Given the description of an element on the screen output the (x, y) to click on. 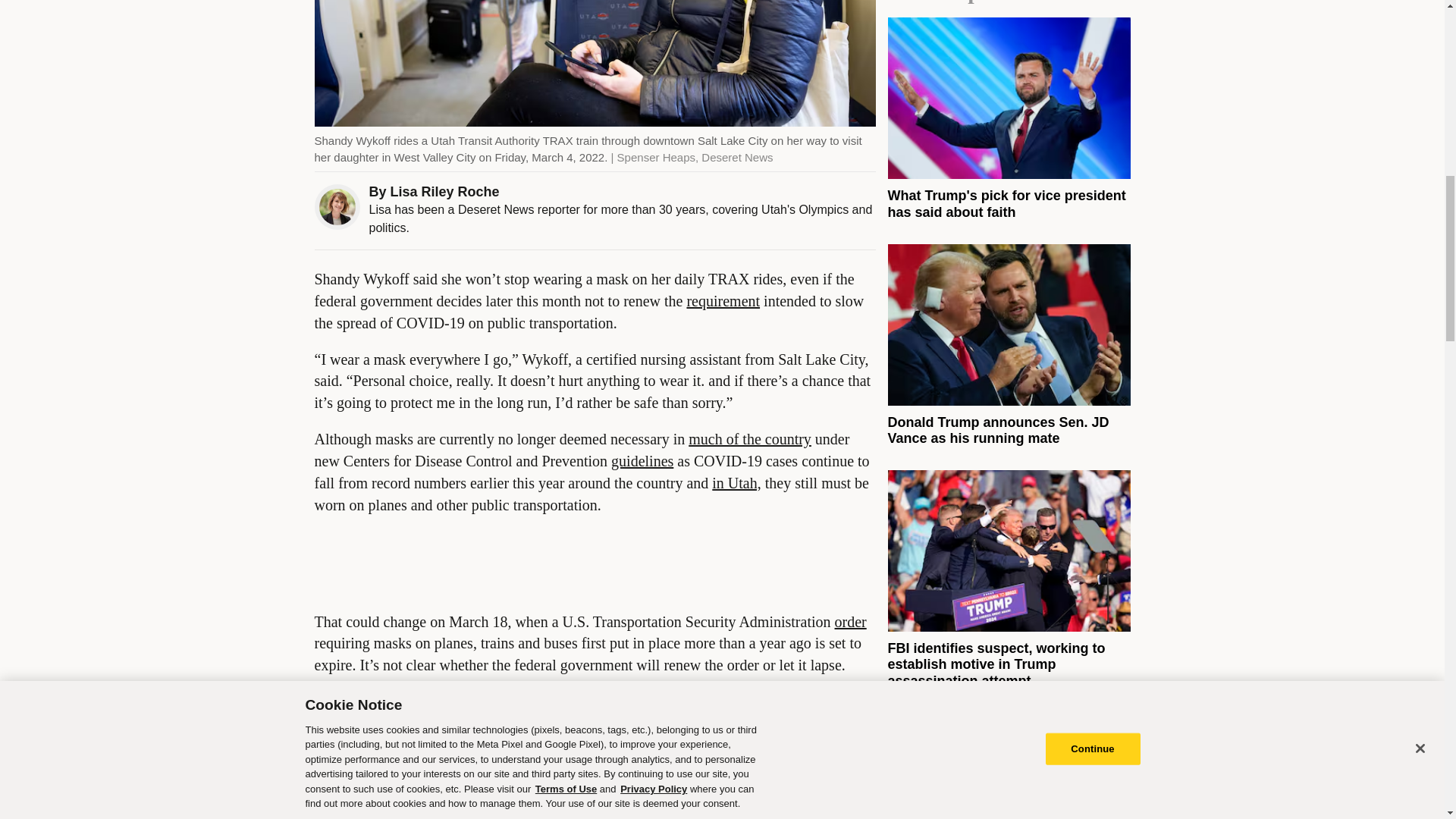
order (850, 621)
guidelines (641, 460)
much of the country (749, 438)
in Utah, (735, 483)
Lisa Riley Roche (444, 191)
requirement (722, 300)
